Given the description of an element on the screen output the (x, y) to click on. 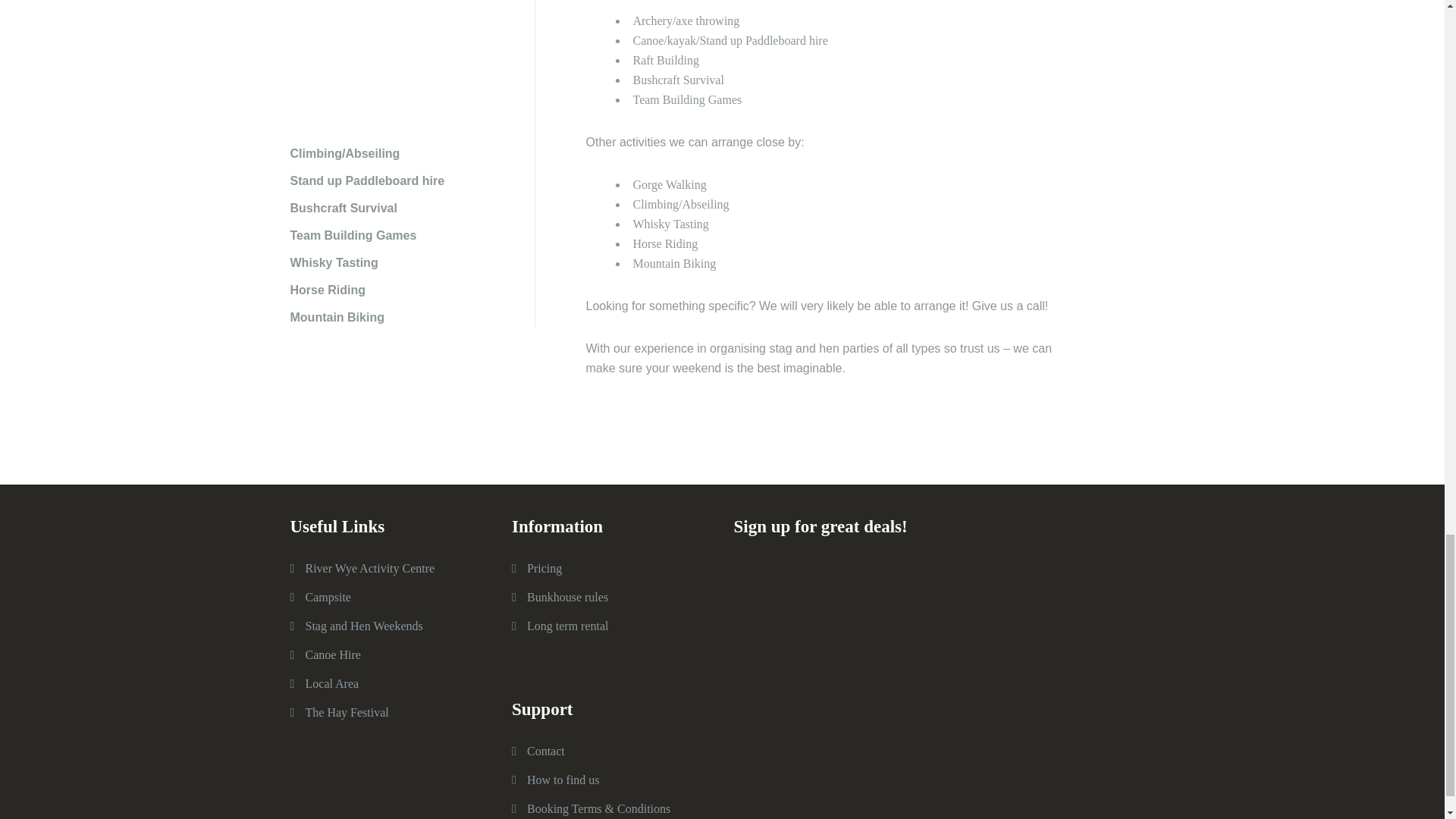
Stag and Hen Weekends (363, 625)
Campsite (327, 596)
Canoe Hire (331, 654)
River Wye Activity Centre (368, 567)
How to find us (563, 779)
Pricing (544, 567)
The Hay Festival (346, 712)
Local Area (331, 683)
Contact (545, 750)
